Given the description of an element on the screen output the (x, y) to click on. 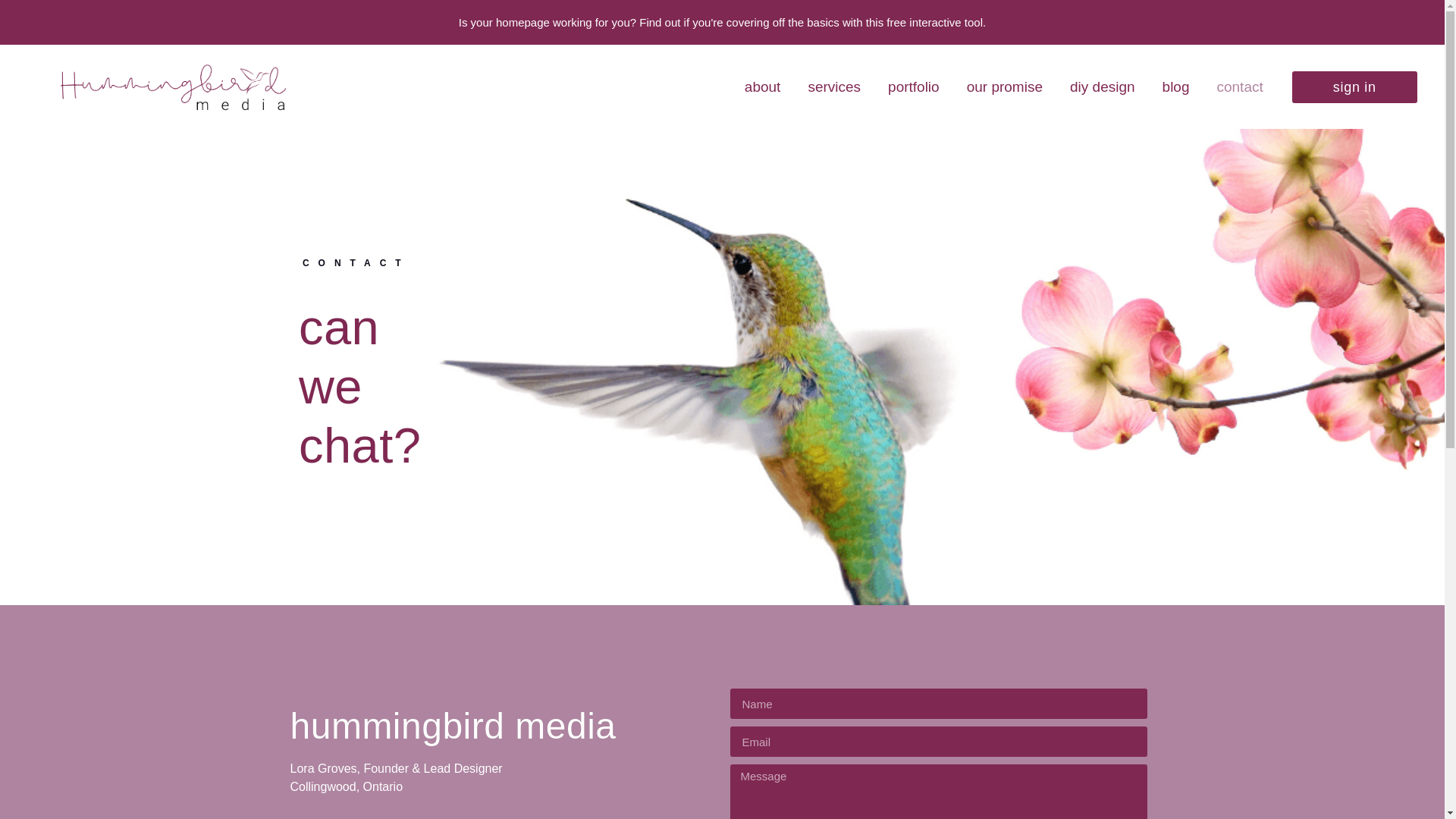
portfolio (914, 86)
contact (1239, 86)
our promise (1005, 86)
diy design (1102, 86)
sign in (1354, 87)
blog (1176, 86)
about (762, 86)
services (834, 86)
